Given the description of an element on the screen output the (x, y) to click on. 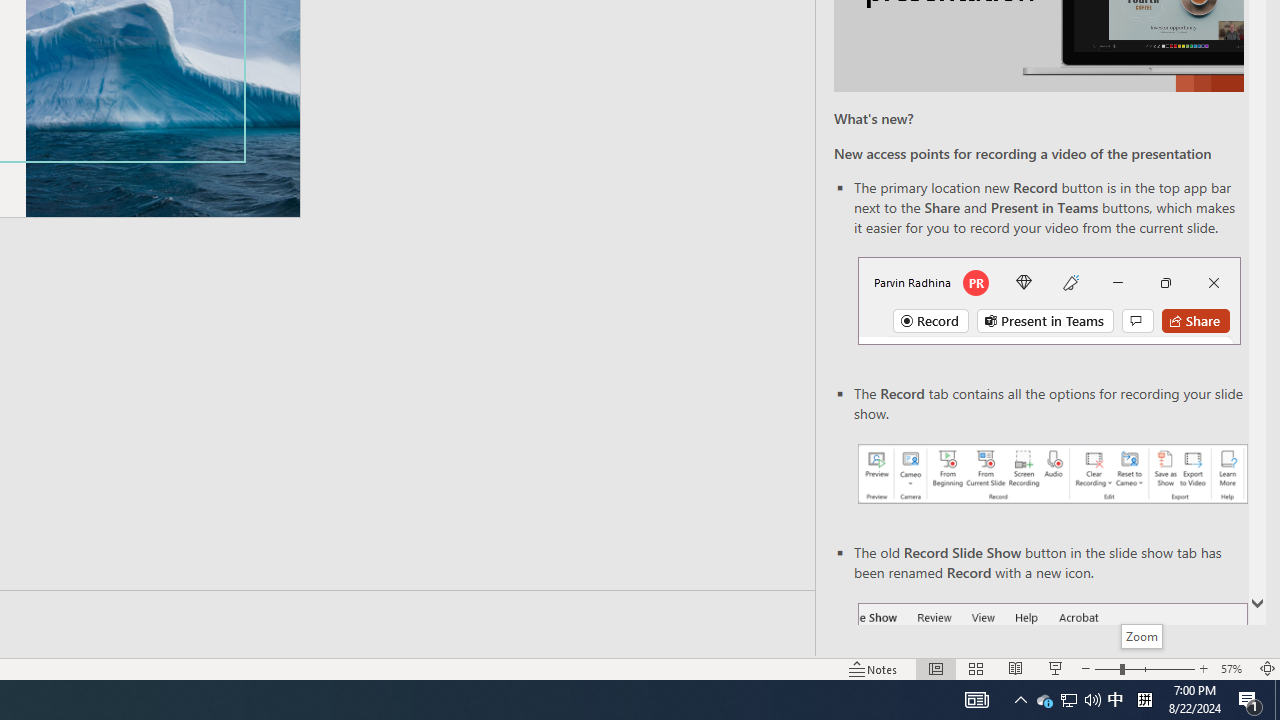
Record button in top bar (1049, 300)
Record your presentations screenshot one (1052, 473)
Zoom 57% (1234, 668)
